Given the description of an element on the screen output the (x, y) to click on. 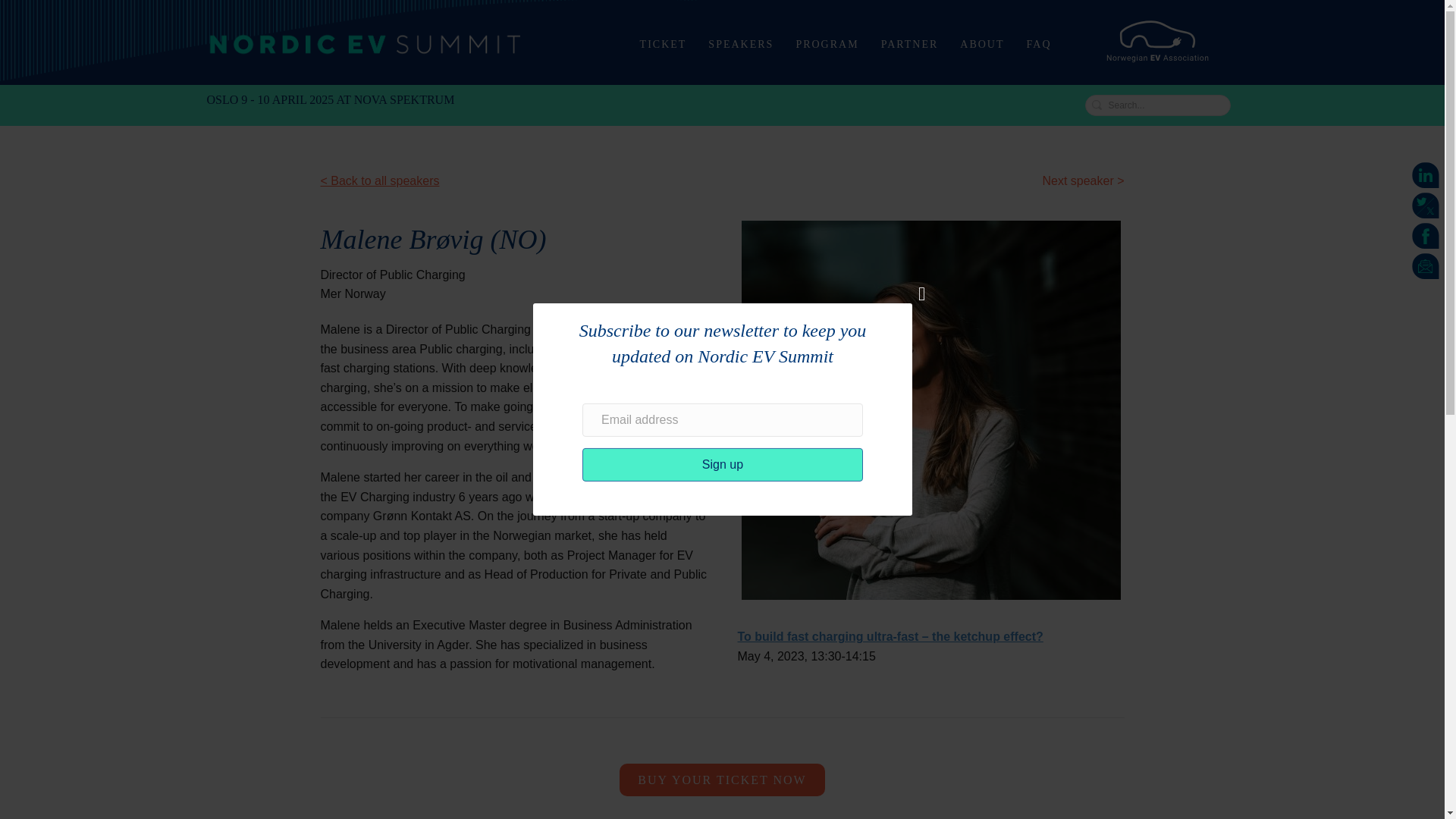
ABOUT (981, 44)
PROGRAM (826, 44)
SPEAKERS (740, 44)
BUY YOUR TICKET NOW (722, 779)
TICKET (662, 44)
Sign up (722, 464)
FAQ (1039, 44)
PARTNER (909, 44)
